Given the description of an element on the screen output the (x, y) to click on. 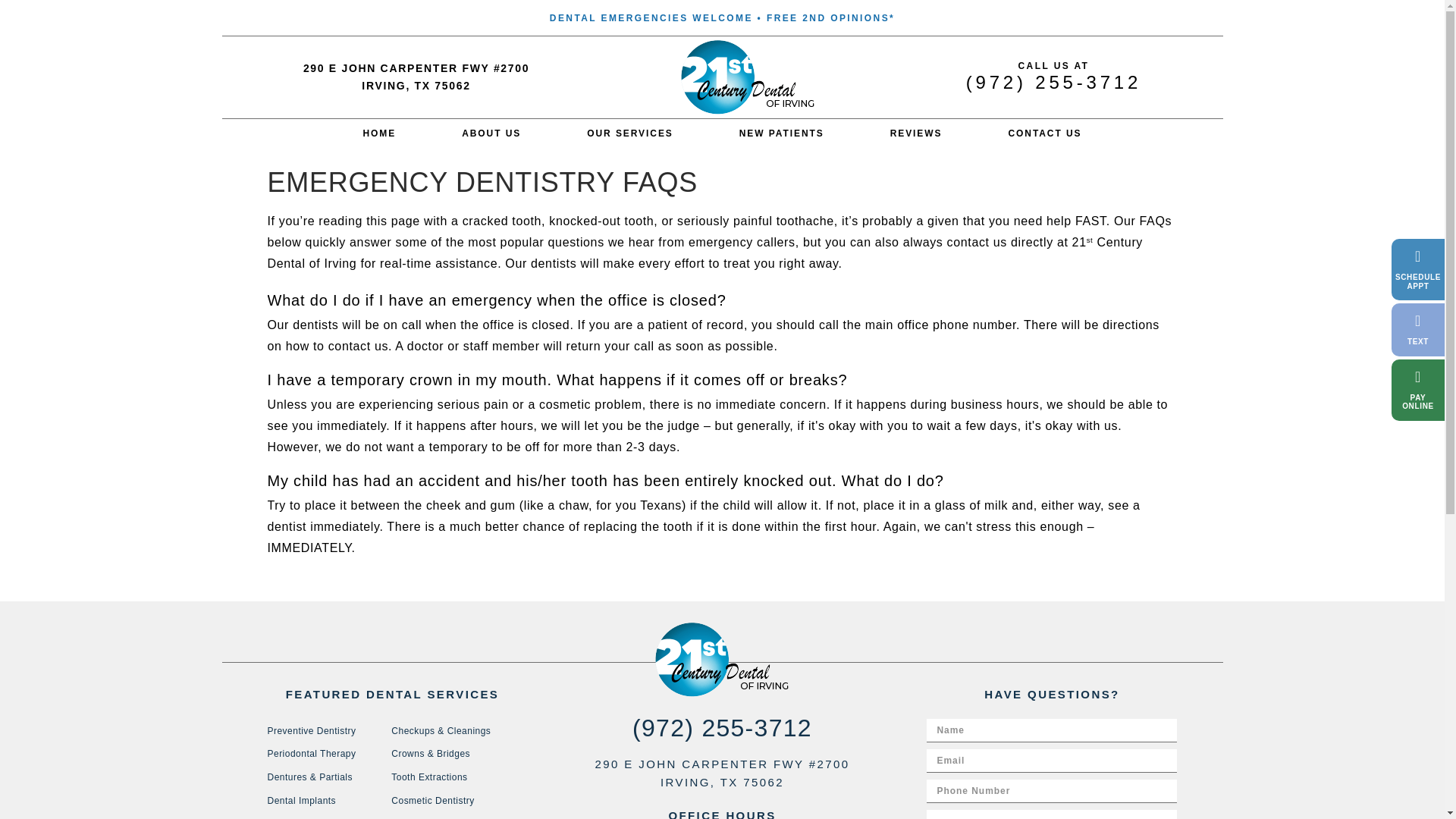
About Us (491, 132)
21st Century Dental of Irving (379, 132)
Dentistry Services (630, 132)
HOME (379, 132)
ABOUT US (491, 132)
OUR SERVICES (630, 132)
DENTAL EMERGENCIES WELCOME (651, 17)
